Given the description of an element on the screen output the (x, y) to click on. 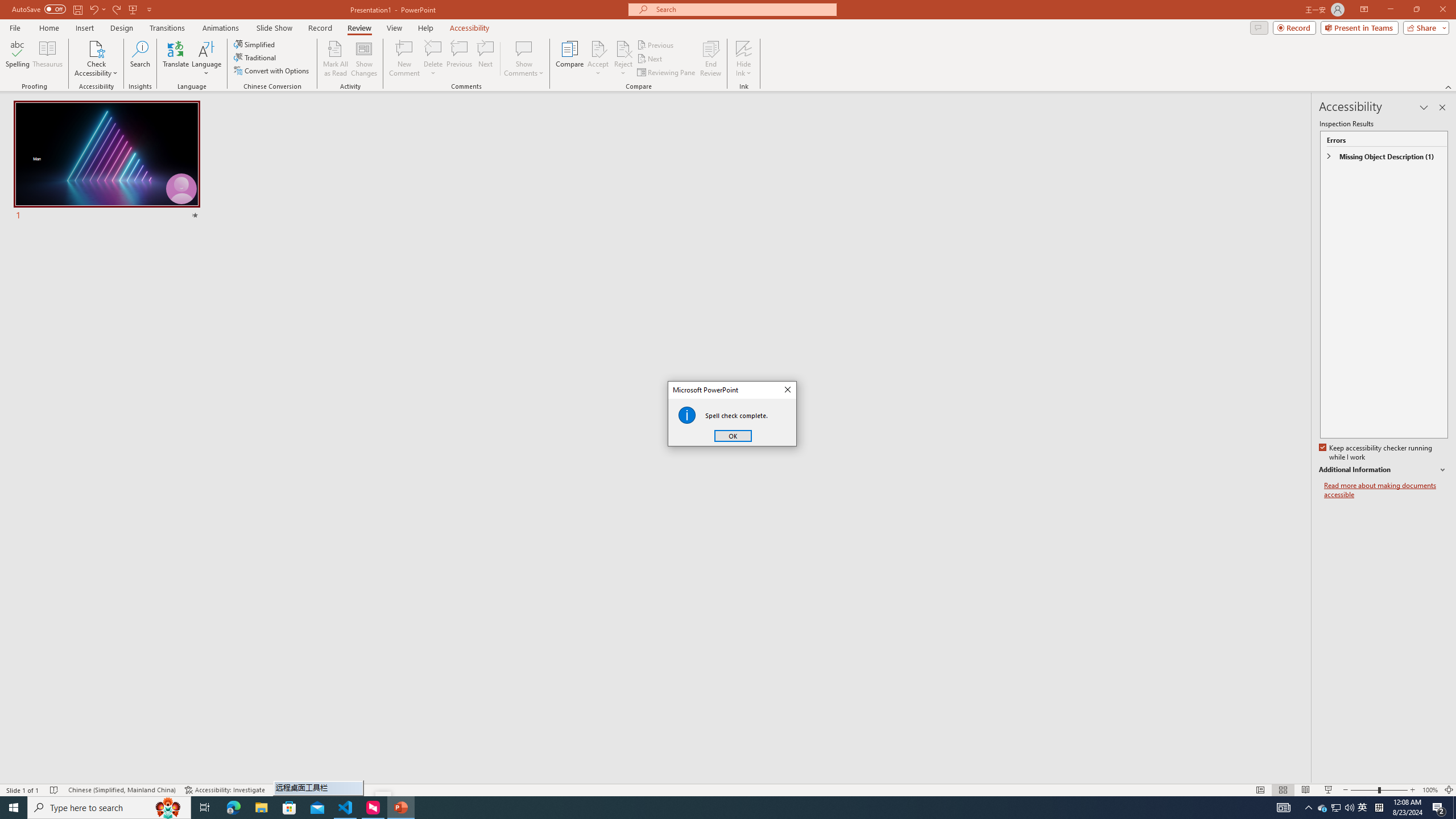
Zoom 100% (1430, 790)
OK (732, 435)
Translate (175, 58)
Convert with Options... (272, 69)
New Comment (403, 58)
